Given the description of an element on the screen output the (x, y) to click on. 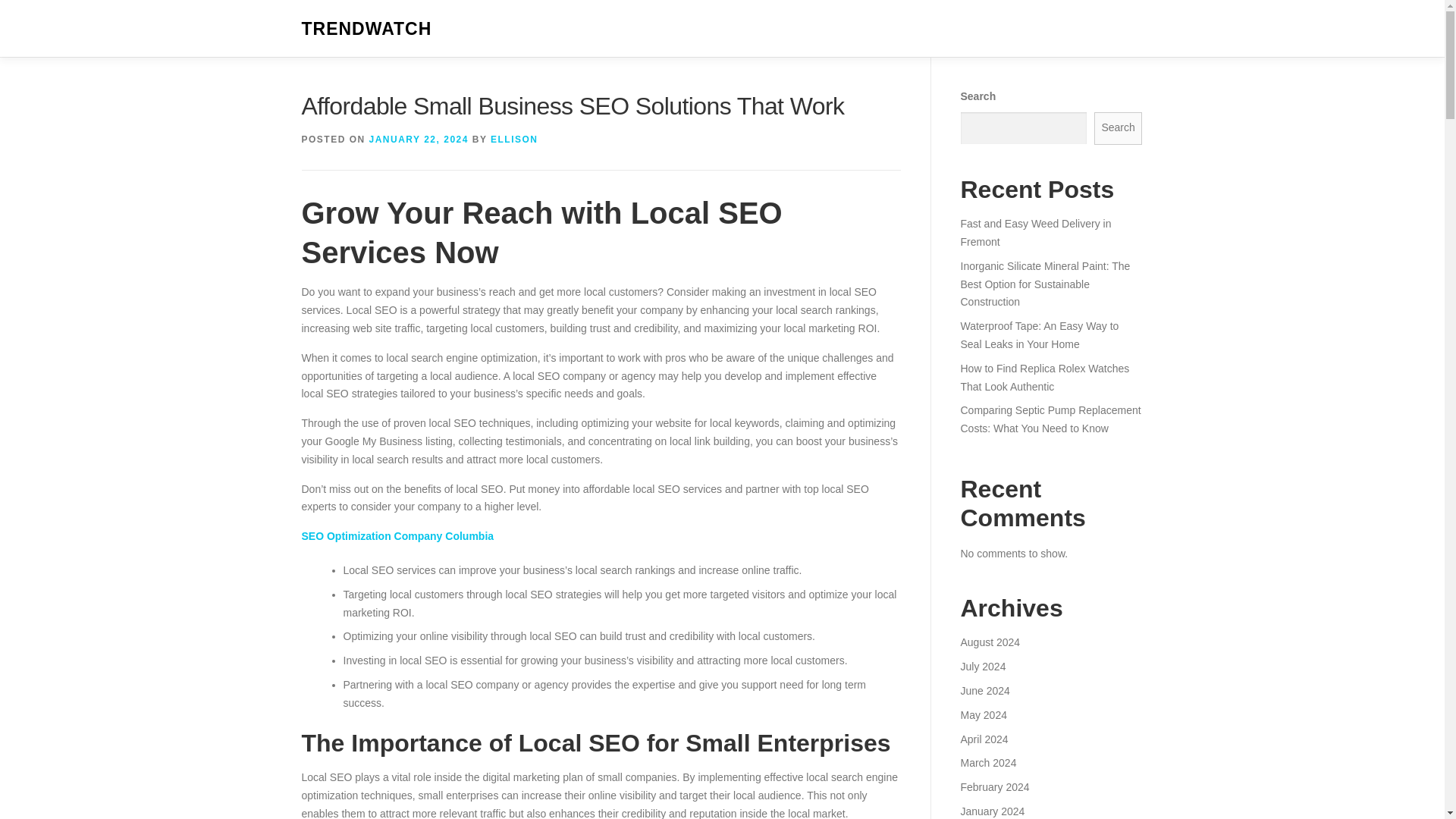
SEO Optimization Company Columbia (398, 535)
January 2024 (992, 811)
June 2024 (984, 690)
April 2024 (983, 738)
JANUARY 22, 2024 (418, 139)
Search (1118, 128)
Waterproof Tape: An Easy Way to Seal Leaks in Your Home (1038, 335)
May 2024 (982, 715)
